Given the description of an element on the screen output the (x, y) to click on. 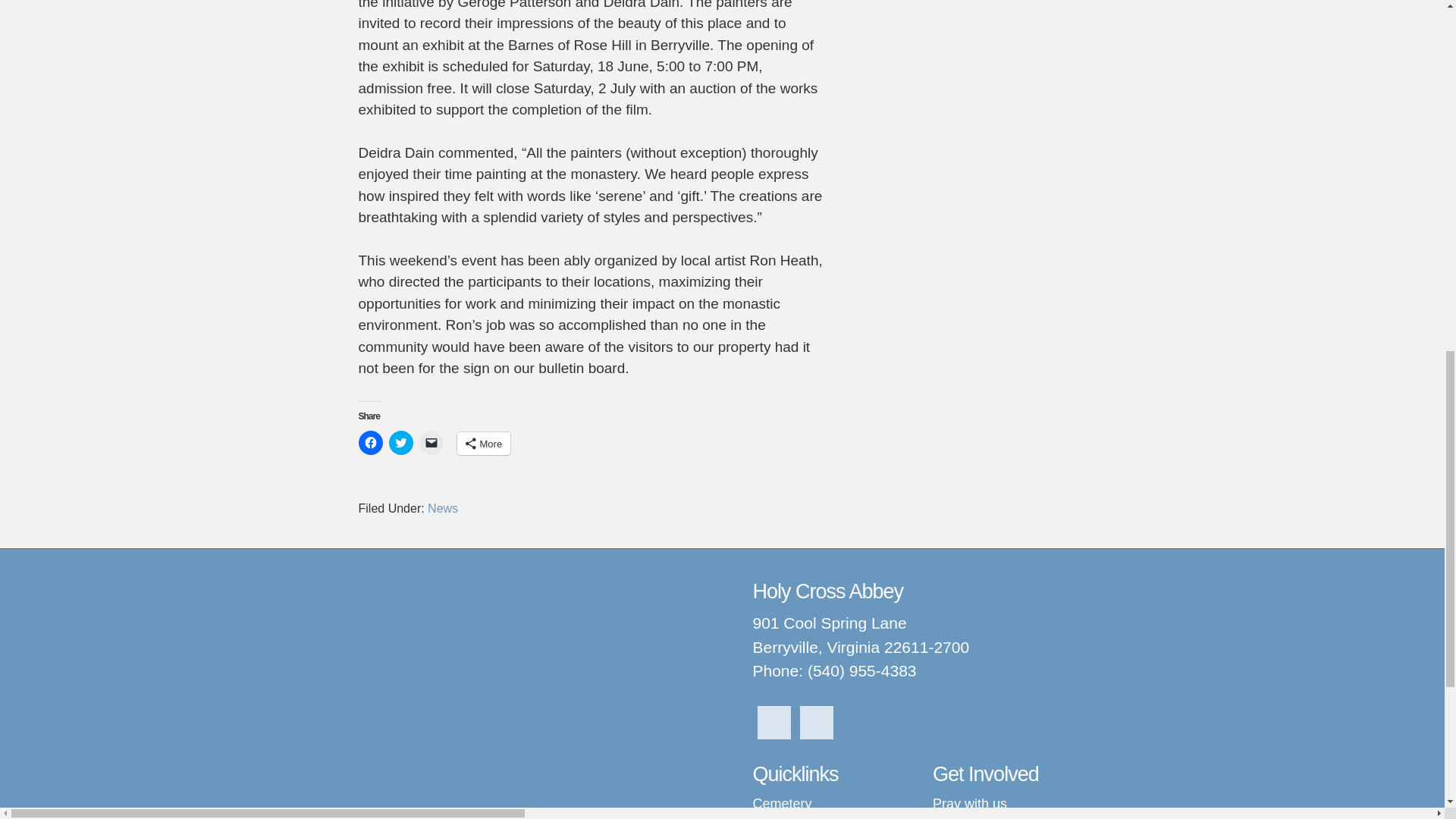
Click to share on Facebook (369, 442)
Click to share on Twitter (400, 442)
Click to email a link to a friend (430, 442)
